Given the description of an element on the screen output the (x, y) to click on. 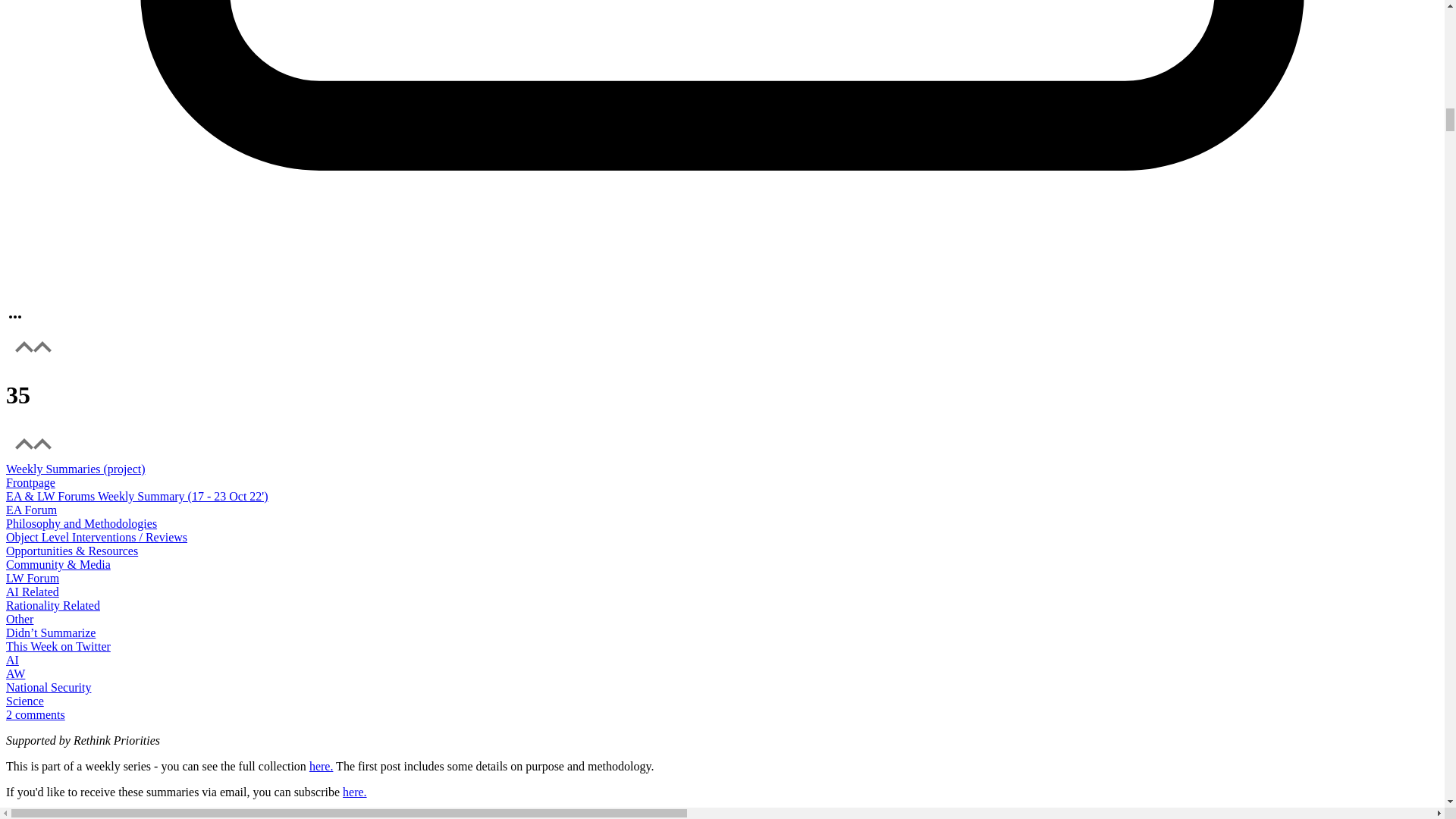
Philosophy and Methodologies (81, 522)
AI (11, 659)
Other (19, 618)
EA Forum (30, 509)
Frontpage (721, 489)
AW (14, 673)
9 Votes (721, 395)
AI Related (32, 591)
National Security (47, 686)
2 comments (35, 714)
LW Forum (32, 577)
Science (24, 700)
Rationality Related (52, 604)
This Week on Twitter (57, 645)
